Given the description of an element on the screen output the (x, y) to click on. 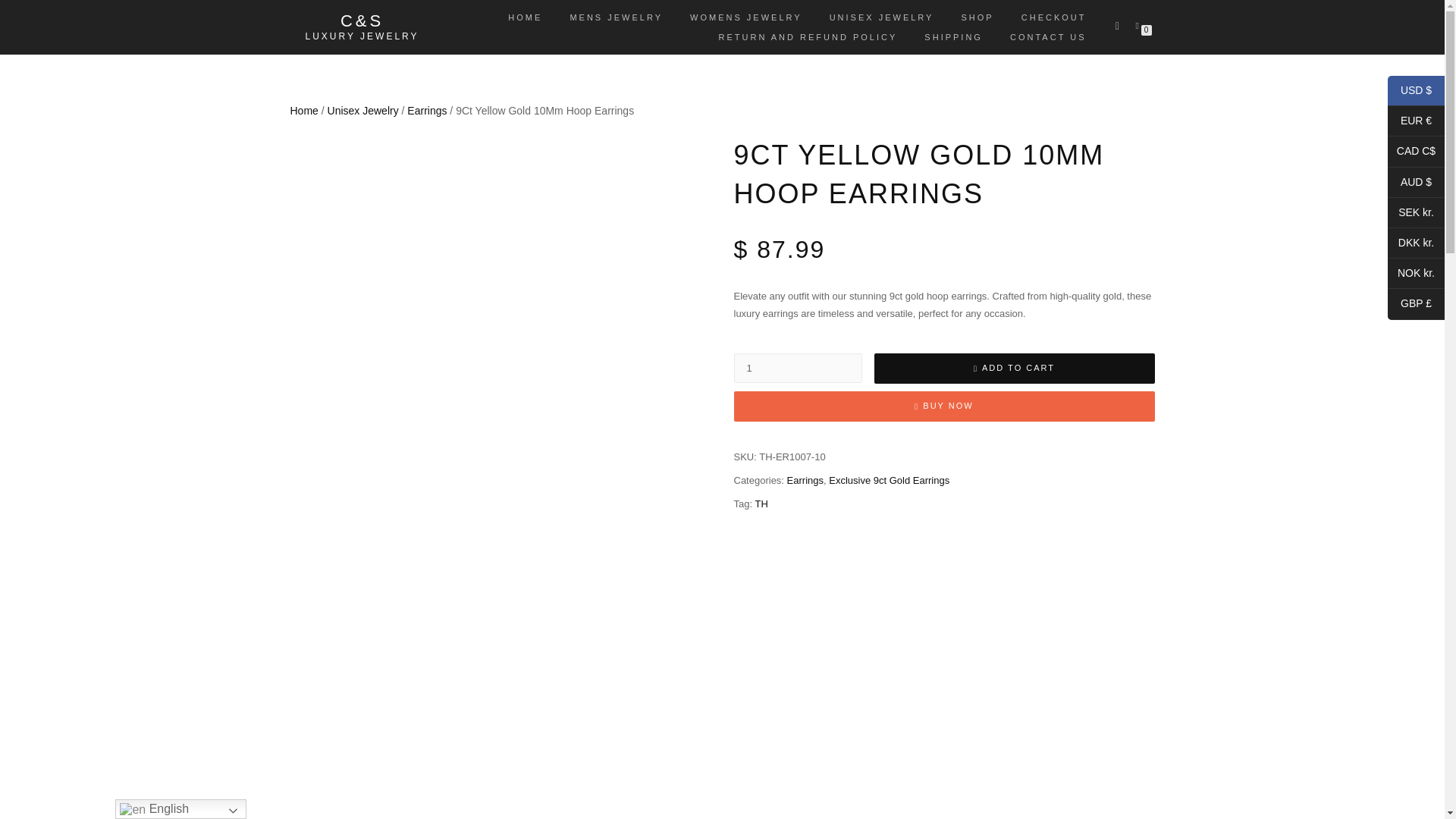
Earrings (426, 110)
Qty (798, 367)
Unisex Jewelry (362, 110)
UNISEX JEWELRY (881, 17)
Home (303, 110)
0 (1139, 23)
View your shopping cart (1139, 23)
CONTACT US (1047, 36)
CHECKOUT (1053, 17)
LUXURY JEWELRY (361, 36)
1 (798, 367)
WOMENS JEWELRY (745, 17)
HOME (524, 17)
SHOP (978, 17)
RETURN AND REFUND POLICY (807, 36)
